Given the description of an element on the screen output the (x, y) to click on. 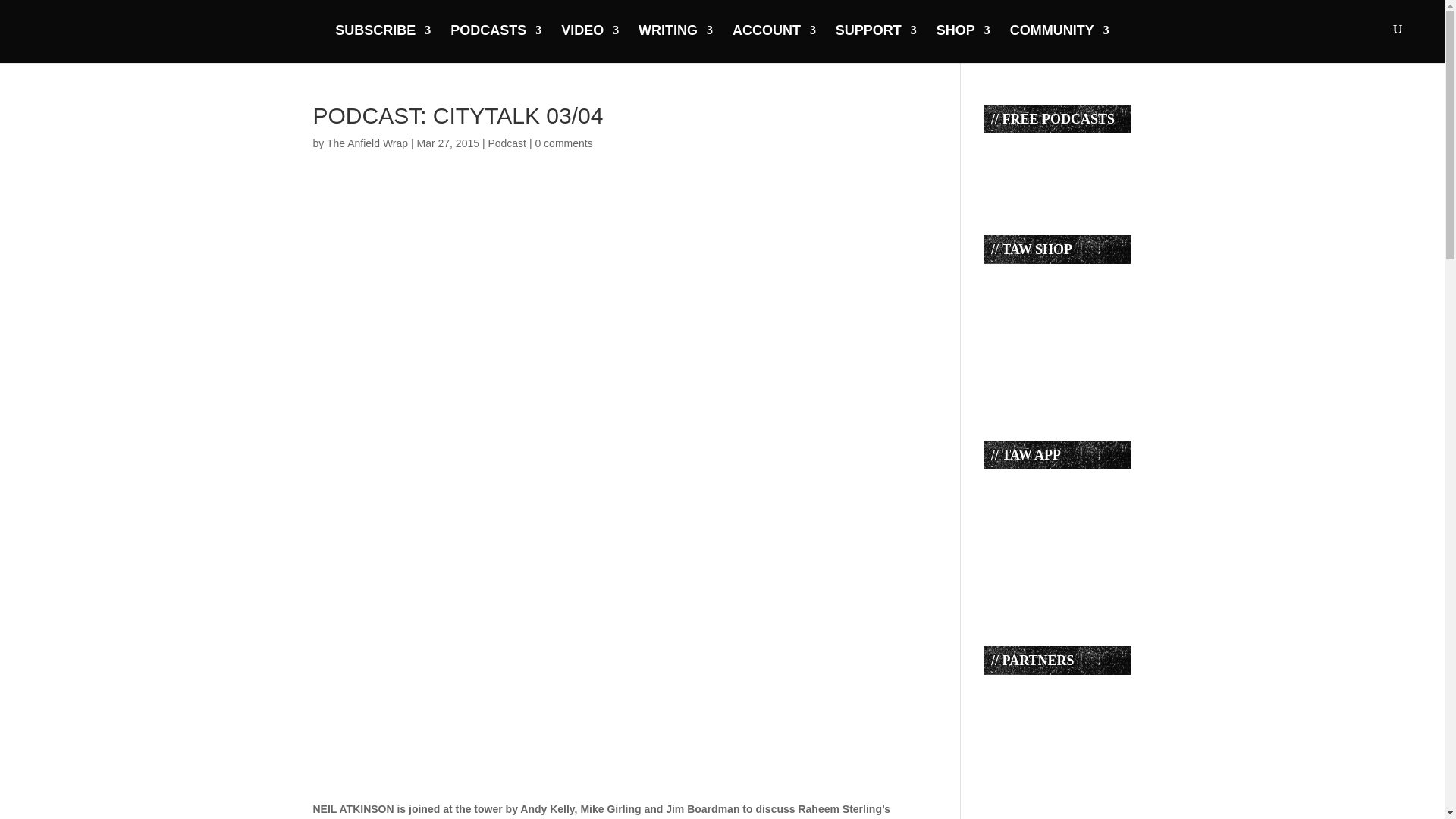
SHOP (963, 42)
VIDEO (589, 42)
WRITING (676, 42)
ACCOUNT (773, 42)
SUBSCRIBE (382, 42)
SUPPORT (876, 42)
Posts by The Anfield Wrap (366, 143)
PODCASTS (495, 42)
COMMUNITY (1059, 42)
